Given the description of an element on the screen output the (x, y) to click on. 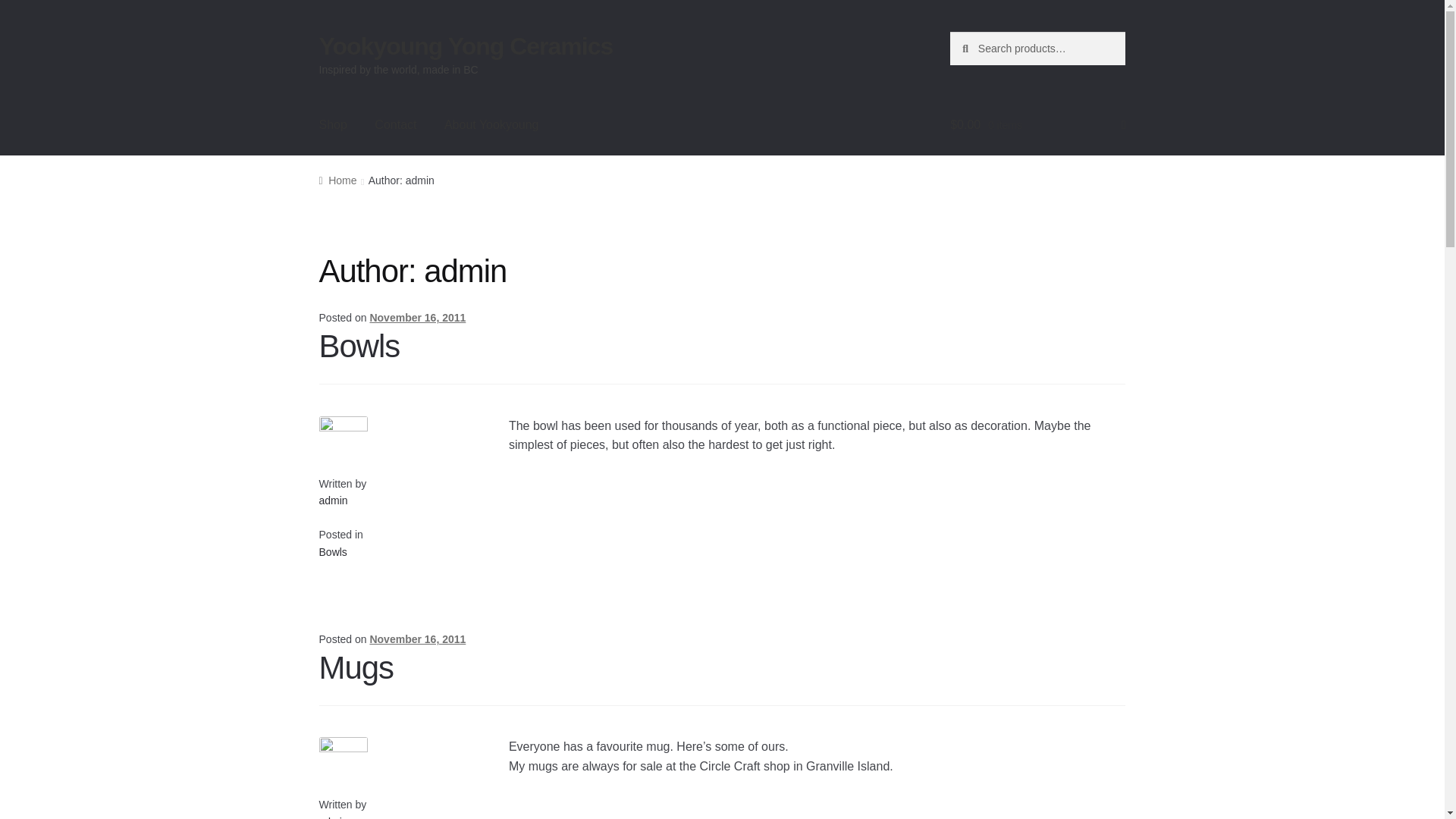
Home (337, 180)
View your shopping cart (1037, 124)
November 16, 2011 (417, 639)
About Yookyoung (491, 124)
Bowls (359, 345)
November 16, 2011 (417, 317)
Bowls (332, 551)
admin (332, 500)
admin (332, 817)
